Given the description of an element on the screen output the (x, y) to click on. 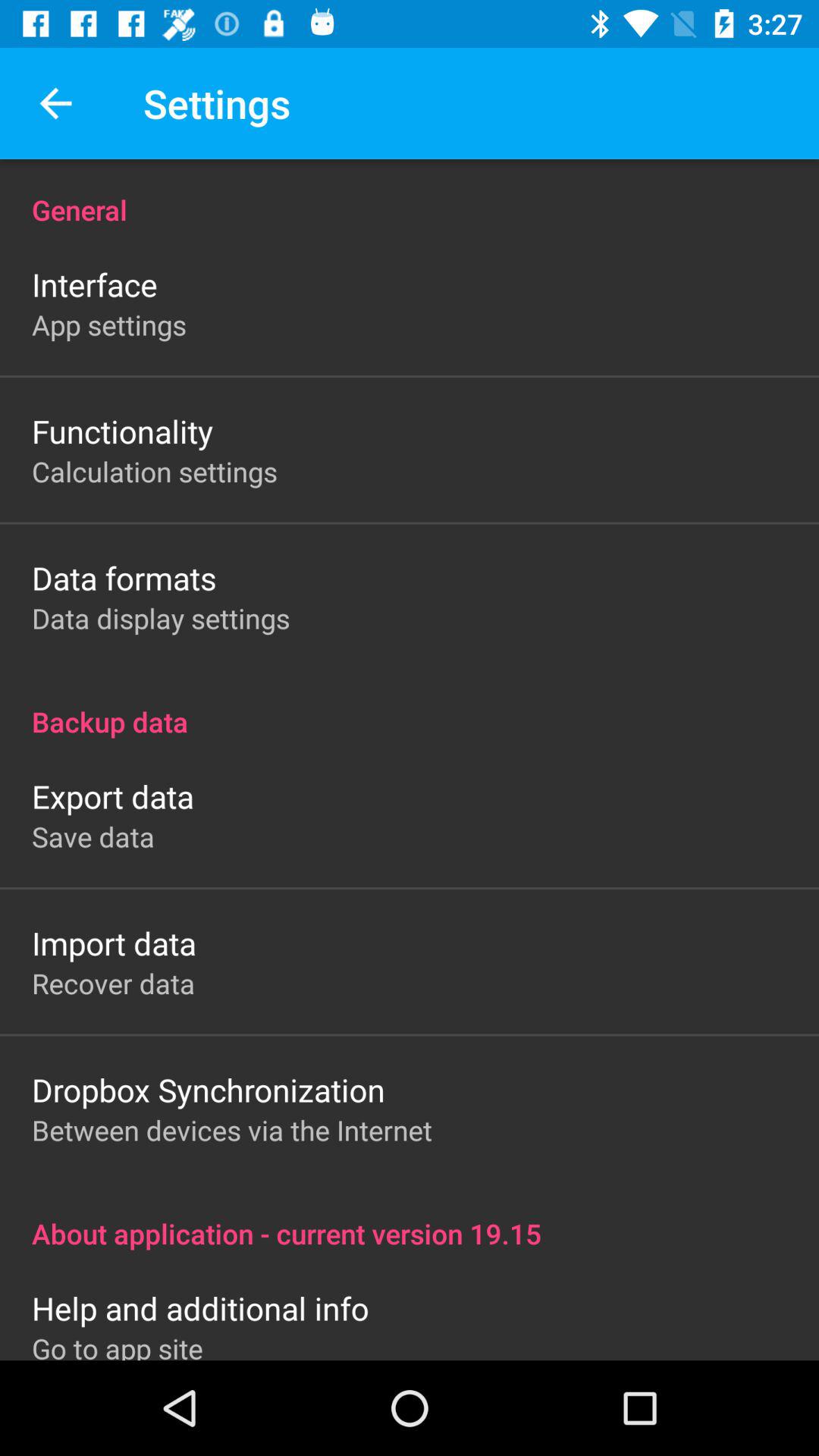
jump to the dropbox synchronization item (208, 1089)
